Given the description of an element on the screen output the (x, y) to click on. 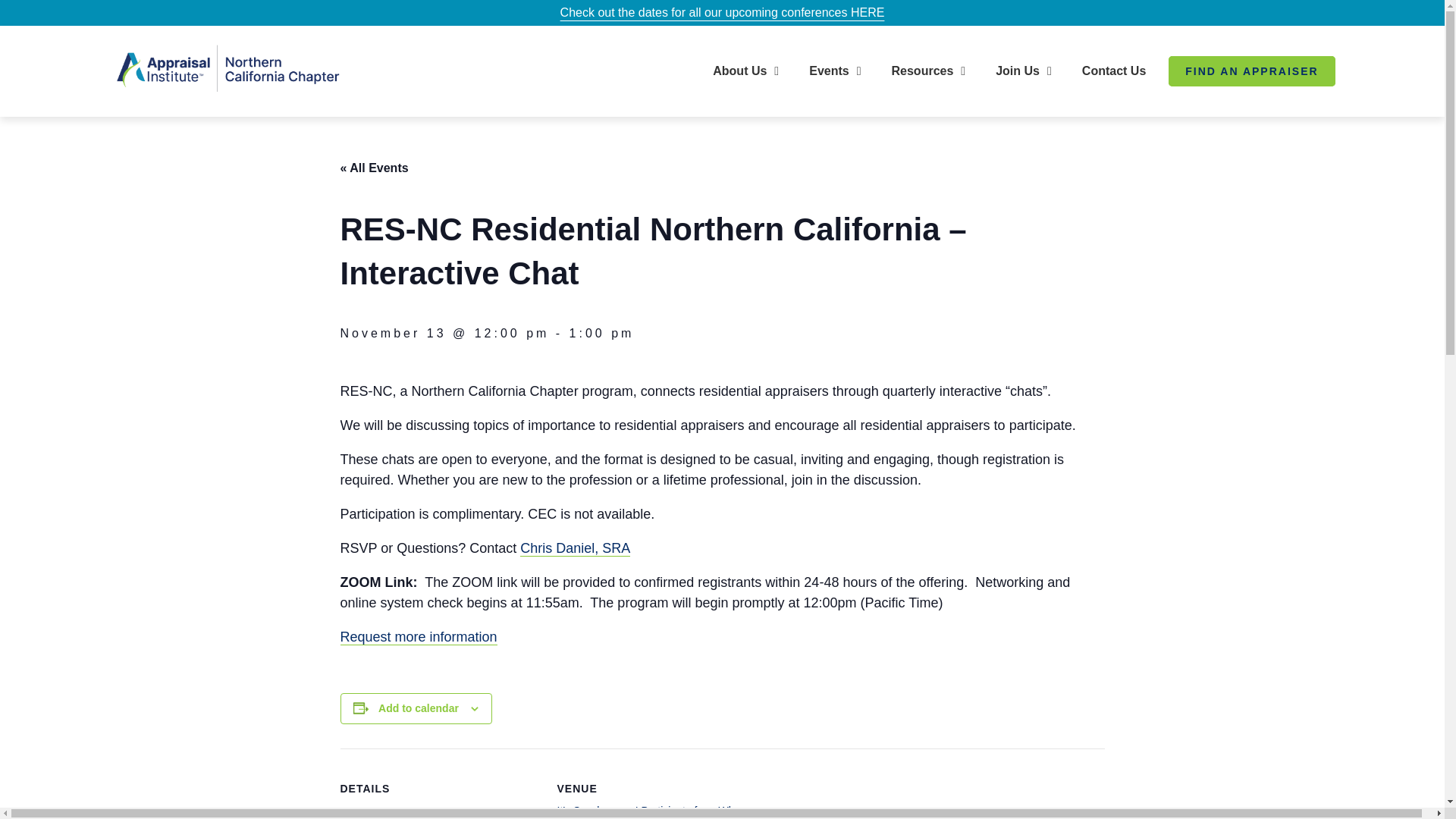
Resources (932, 70)
Check out the dates for all our upcoming conferences HERE (722, 11)
About Us (749, 70)
Events (838, 70)
Northern California Chapter of the Appraisal Institute (241, 129)
